Given the description of an element on the screen output the (x, y) to click on. 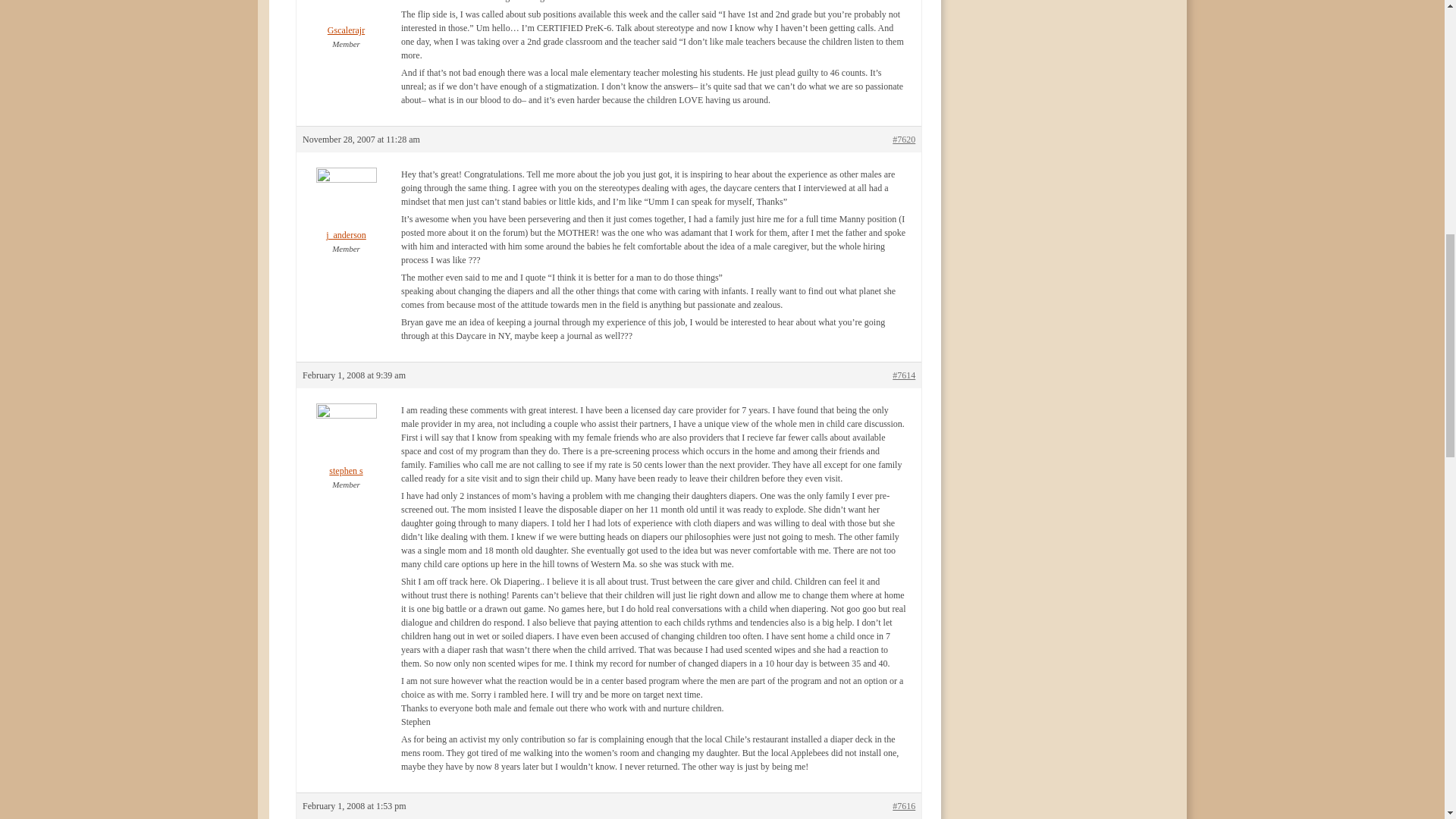
View stephen s's profile (346, 450)
View Gscalerajr's profile (346, 18)
stephen s (346, 450)
Gscalerajr (346, 18)
